Given the description of an element on the screen output the (x, y) to click on. 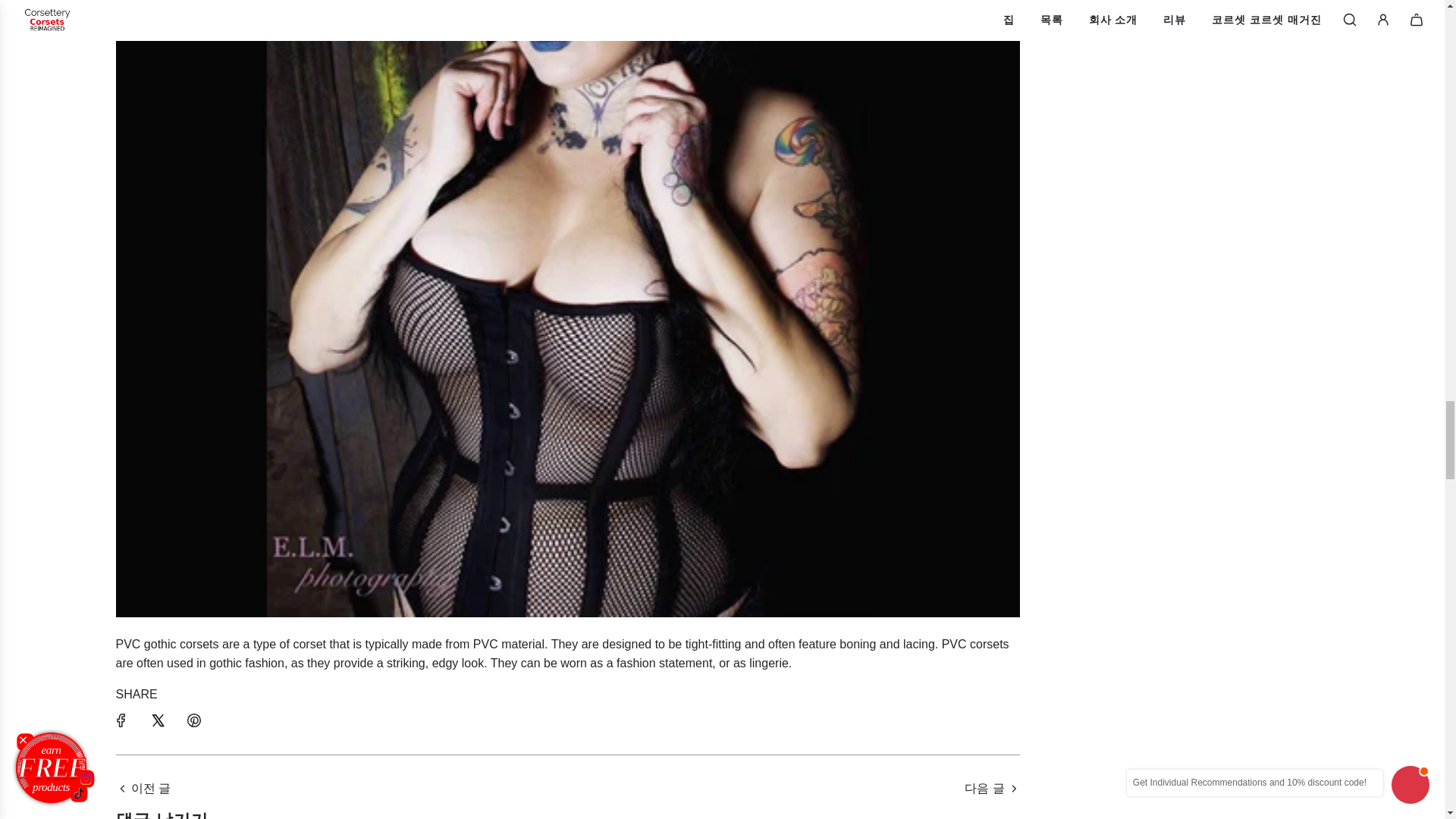
PVC gothic corsets (166, 644)
